Given the description of an element on the screen output the (x, y) to click on. 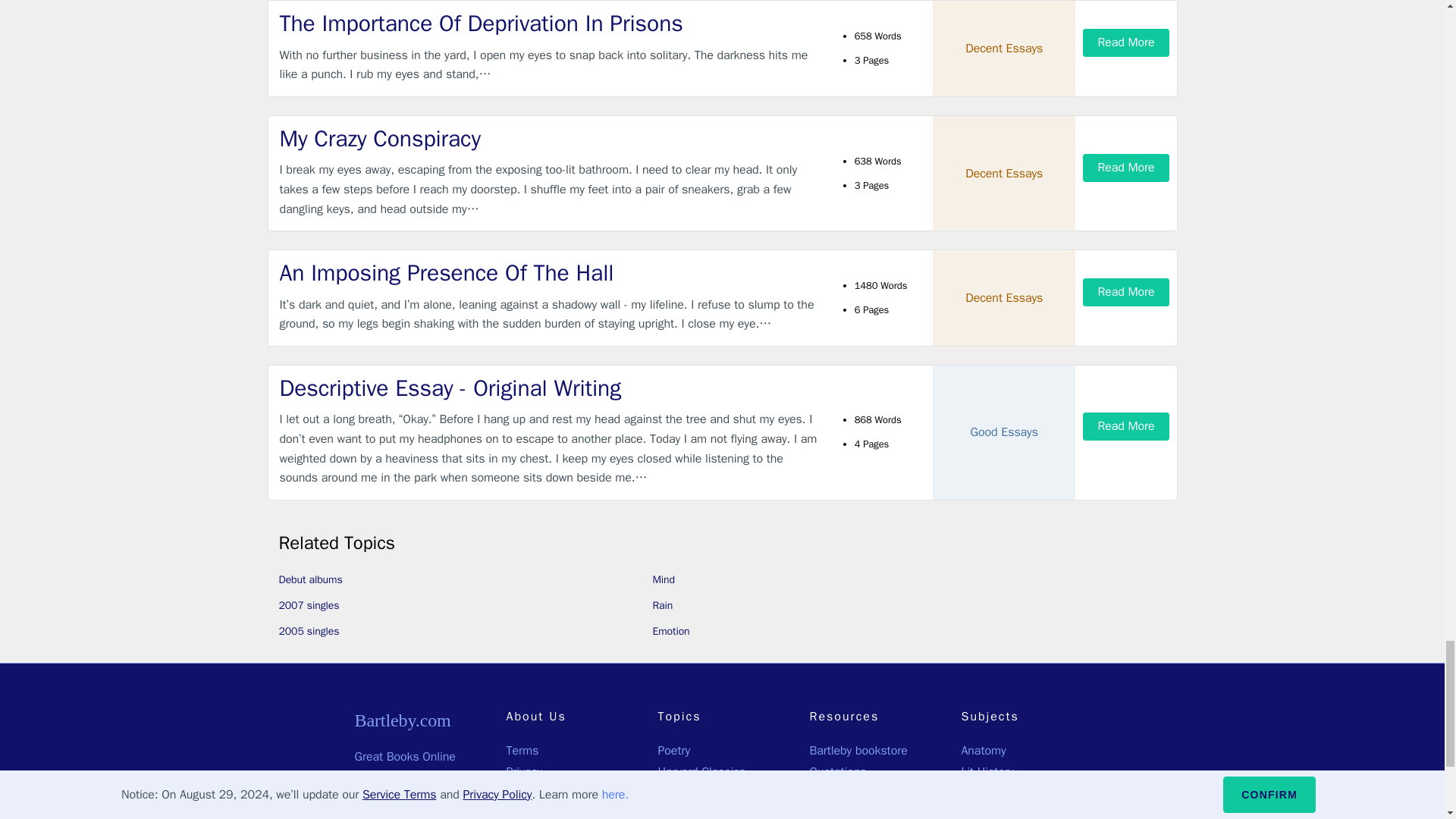
2005 singles (309, 631)
Rain (662, 604)
2007 singles (309, 604)
Debut albums (310, 579)
Mind (663, 579)
Emotion (670, 631)
